Given the description of an element on the screen output the (x, y) to click on. 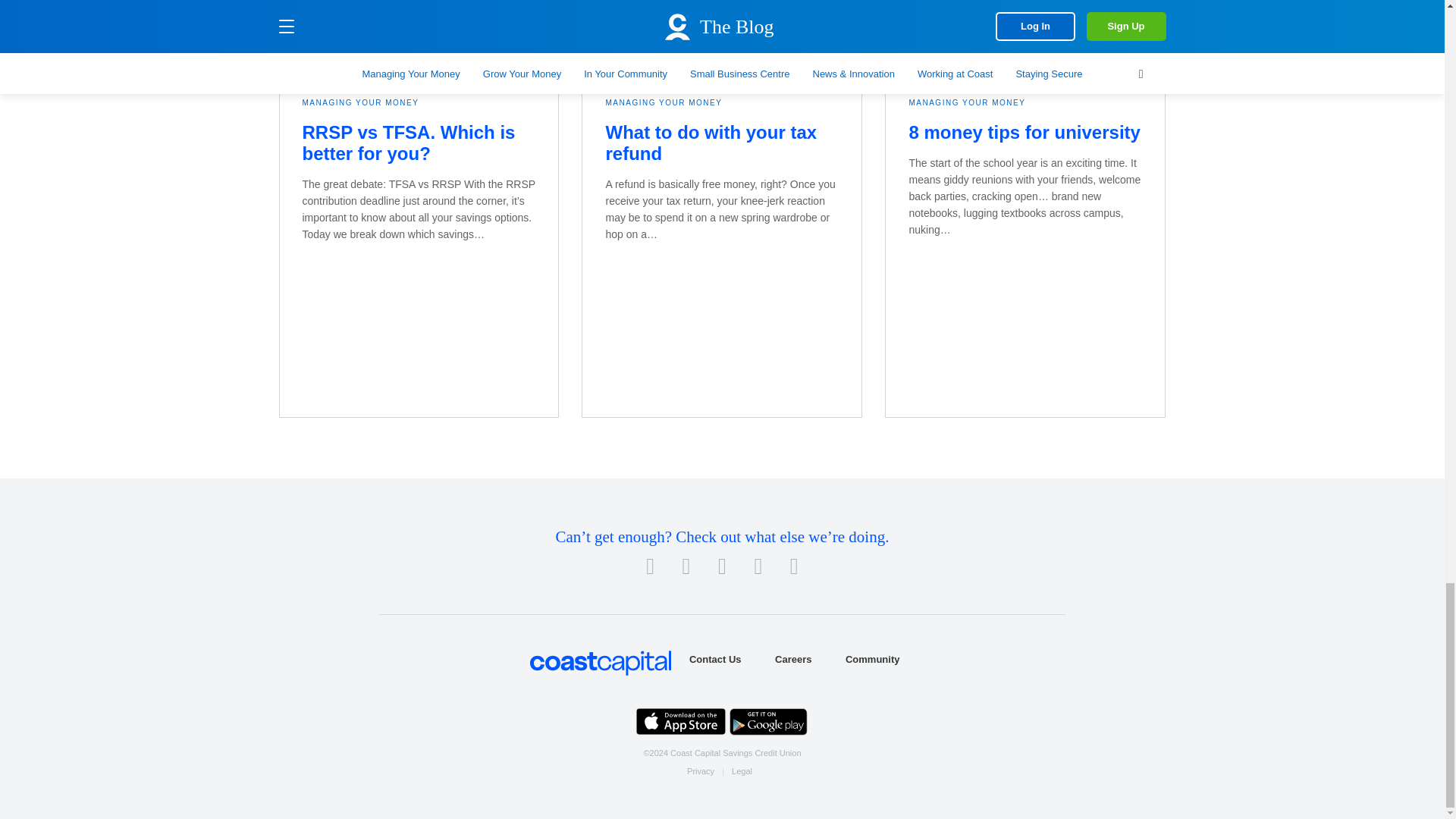
RRSP vs TFSA. Which is better for you? (408, 142)
MANAGING YOUR MONEY (360, 102)
